Given the description of an element on the screen output the (x, y) to click on. 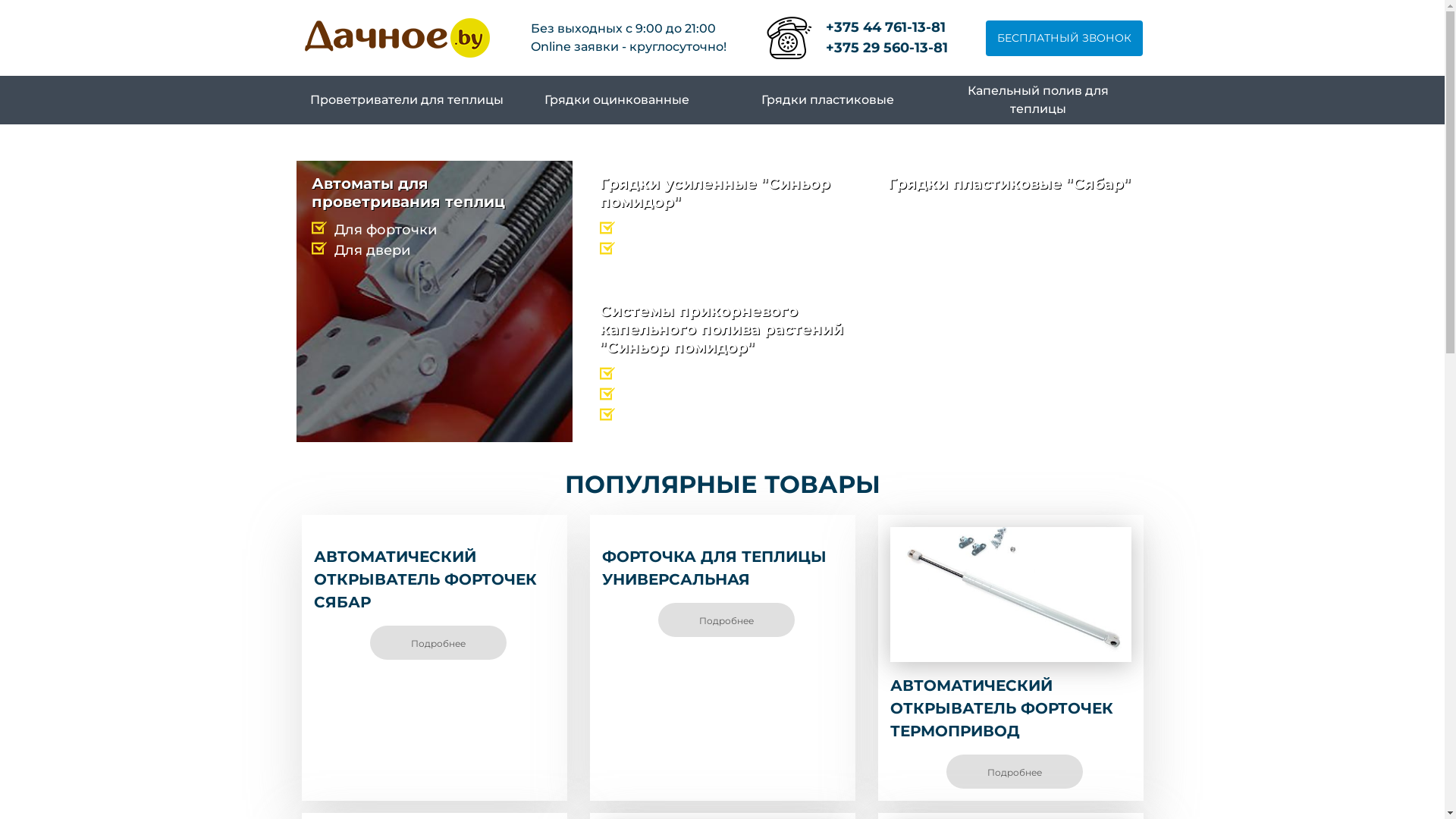
+375 44 761-13-81 Element type: text (886, 27)
+375 29 560-13-81 Element type: text (886, 47)
